Given the description of an element on the screen output the (x, y) to click on. 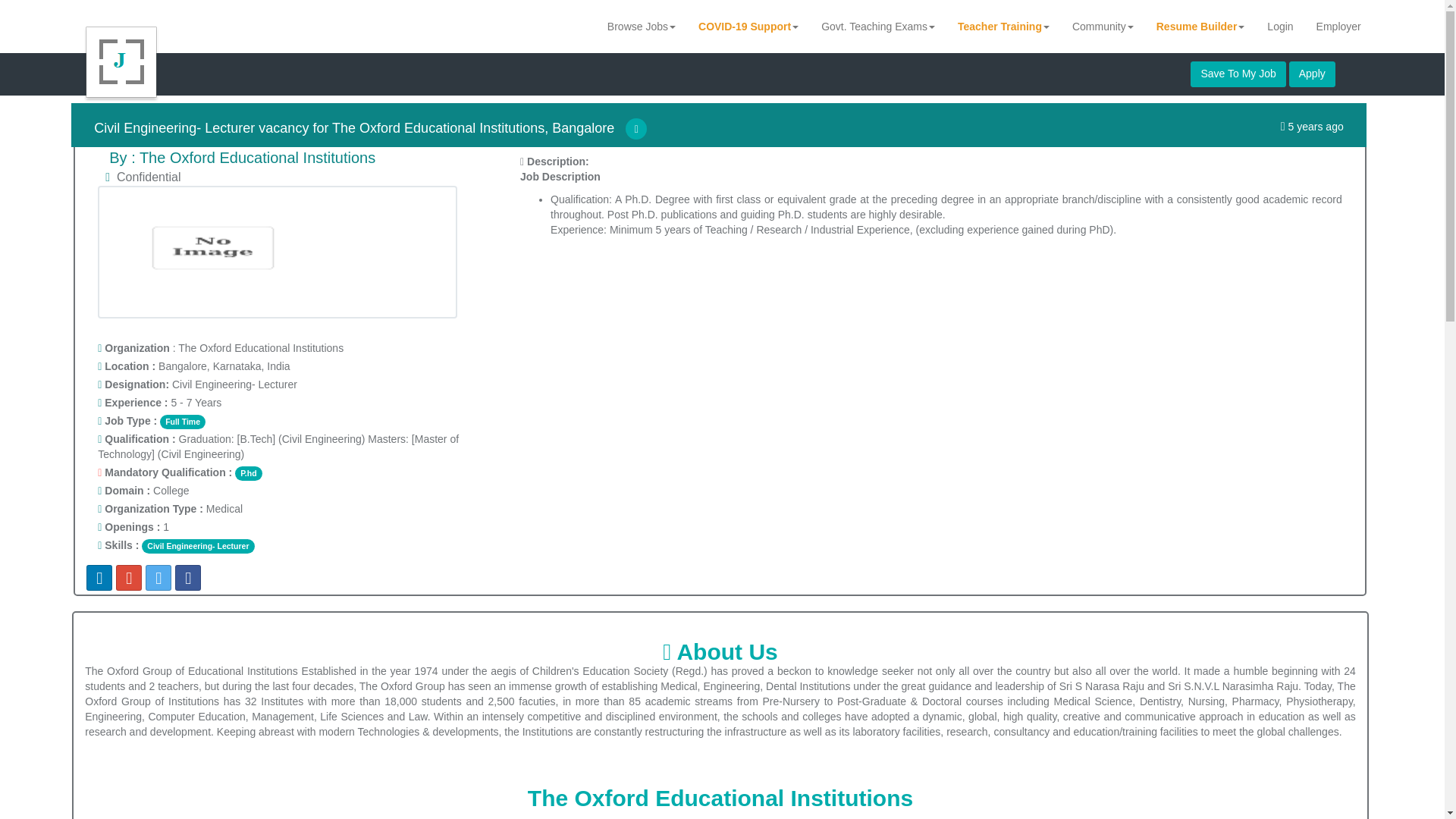
COVID-19 Support (748, 26)
Teacher Training (1003, 26)
Resume Builder (1200, 26)
Apply (1311, 73)
Job Seeker (1279, 26)
Employer (1338, 26)
Login (1279, 26)
Browse Jobs (641, 26)
Govt. Teaching Exams (877, 26)
Community (1102, 26)
Employer (1338, 26)
Save To My Job (1238, 73)
